Given the description of an element on the screen output the (x, y) to click on. 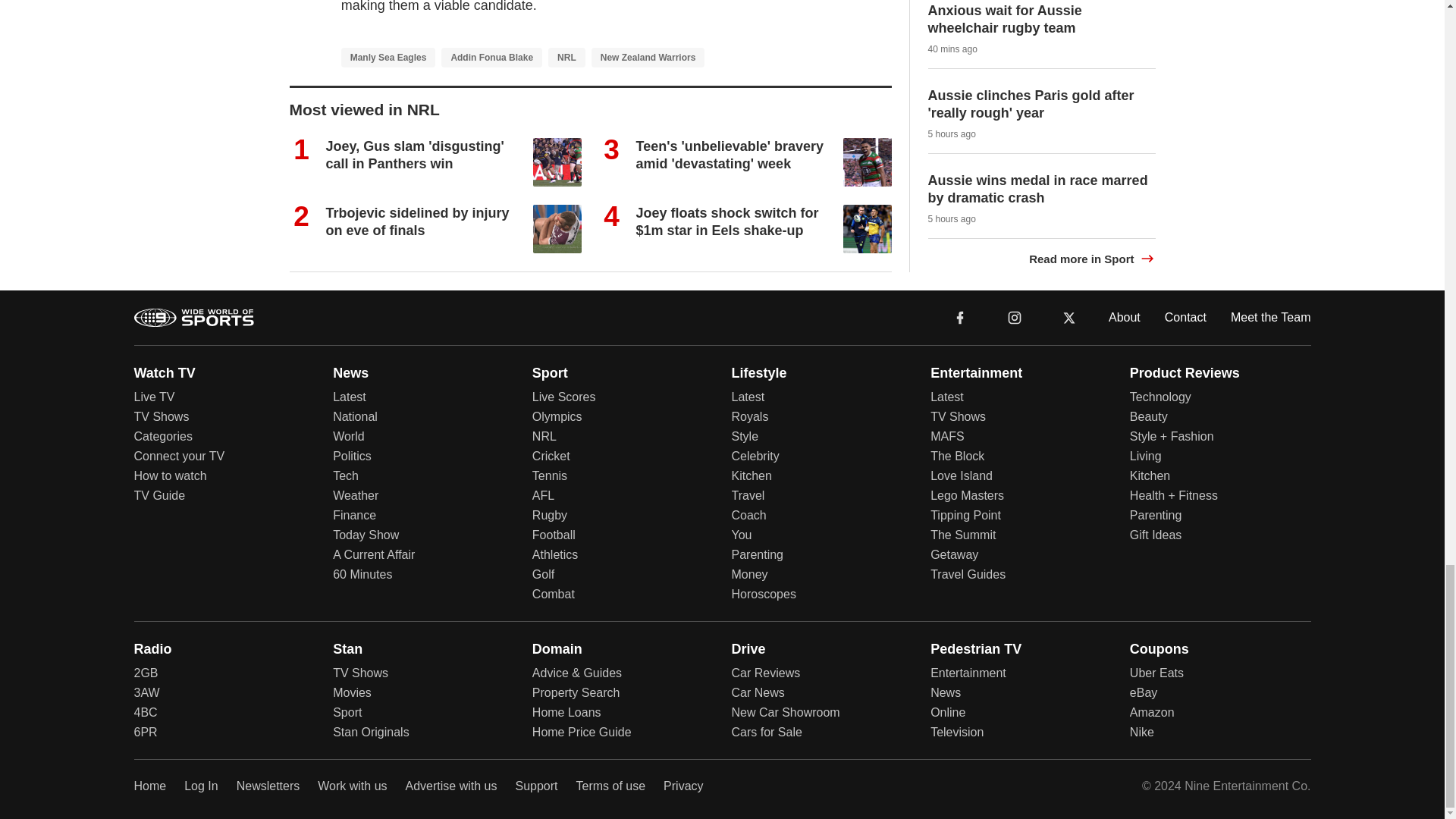
instagram (1014, 317)
instagram (1013, 316)
x (1069, 317)
x (1069, 316)
facebook (960, 317)
facebook (959, 316)
